Given the description of an element on the screen output the (x, y) to click on. 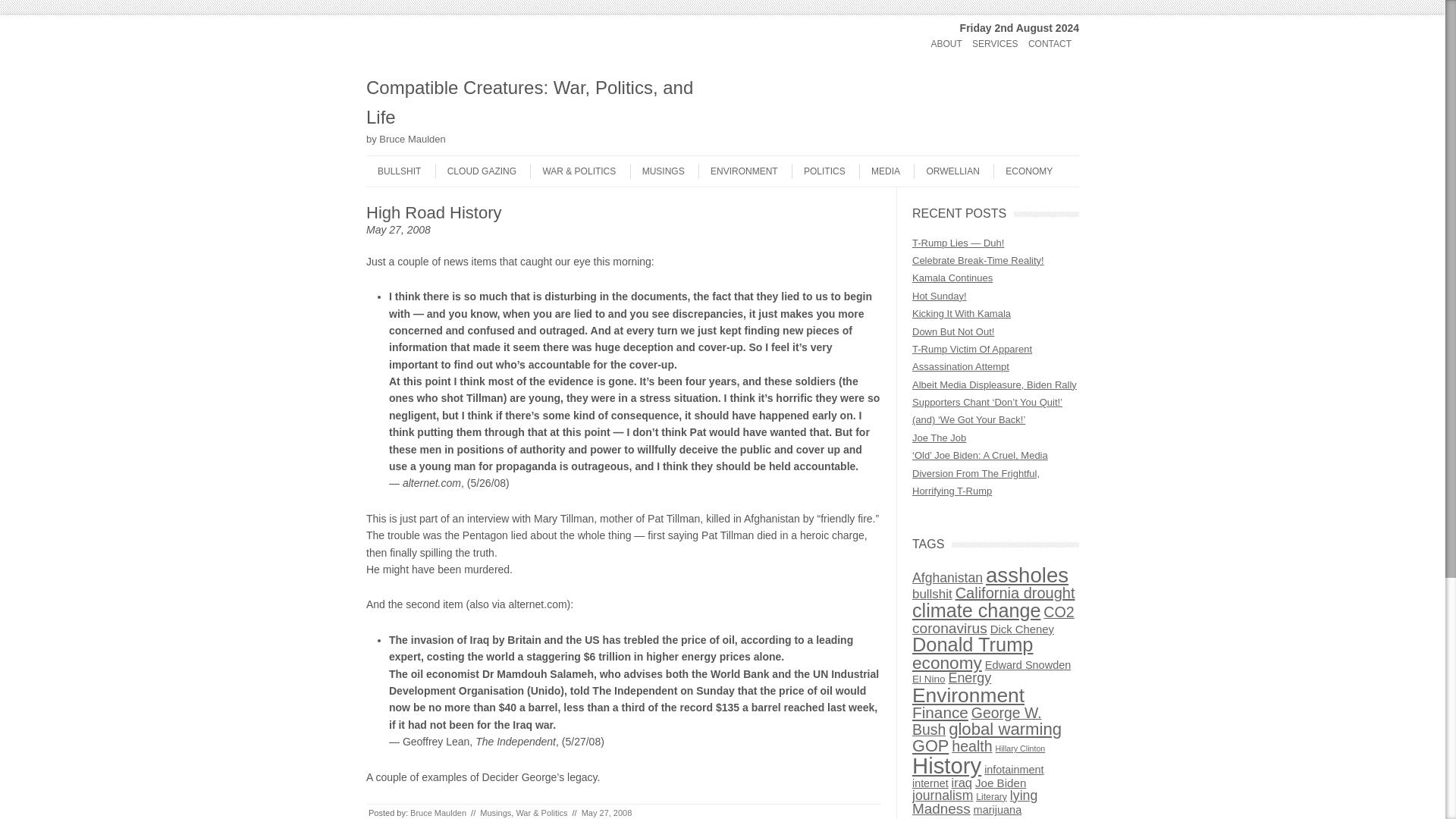
Afghanistan (947, 577)
Compatible Creatures: War, Politics, and Life (540, 102)
bullshit (932, 594)
CONTACT (1049, 43)
Kicking It With Kamala (961, 313)
assholes (1026, 575)
ABOUT (945, 43)
Hot Sunday! (939, 296)
coronavirus (949, 627)
Kamala Continues (952, 277)
View all posts by Bruce Maulden (437, 812)
ECONOMY (1022, 171)
Skip to content (396, 37)
T-Rump Victim Of Apparent Assassination Attempt (972, 357)
Celebrate Break-Time Reality! (977, 260)
